Given the description of an element on the screen output the (x, y) to click on. 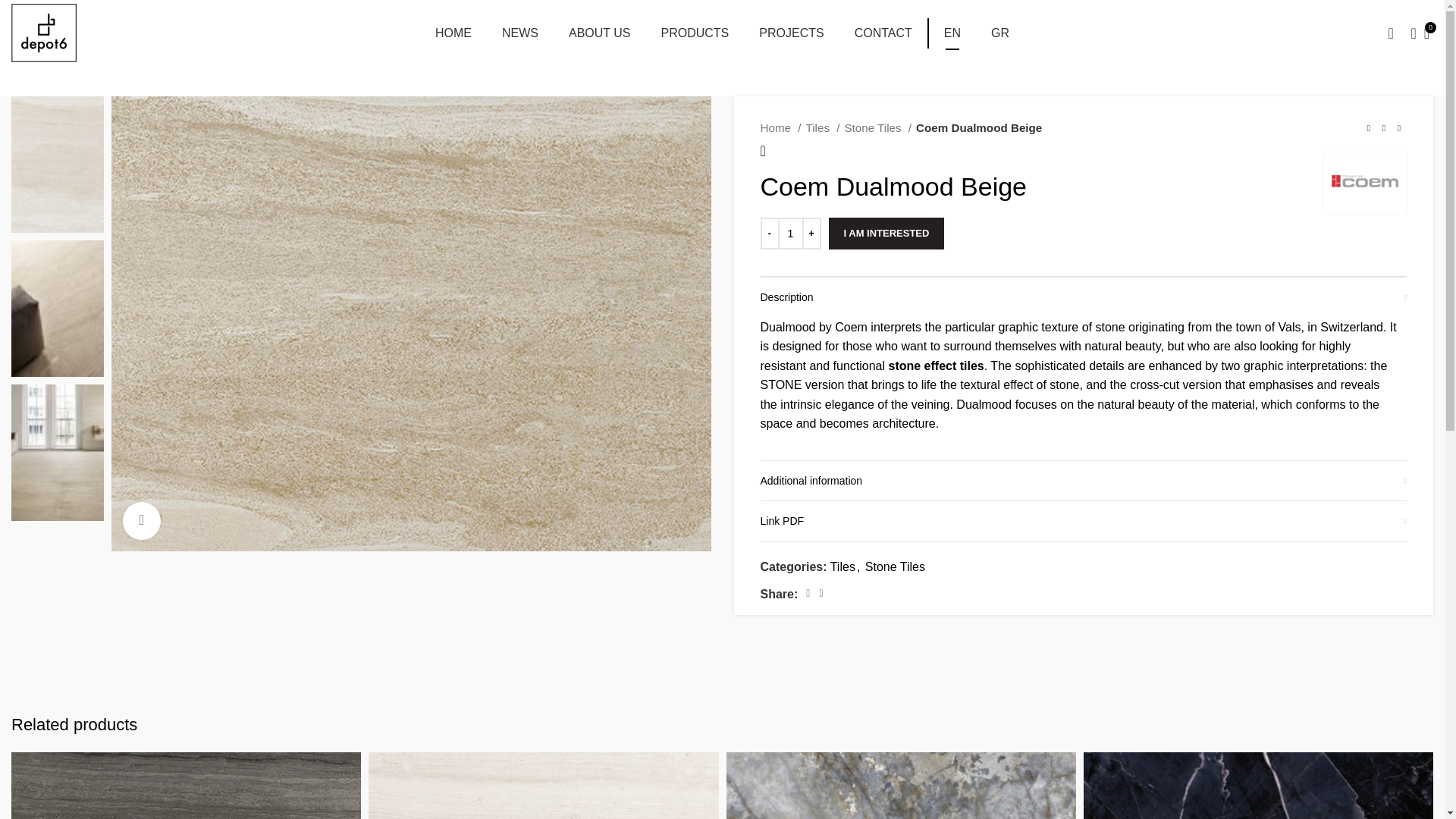
Coem (1364, 183)
HOME (453, 33)
NEWS (520, 33)
ABOUT US (722, 33)
Tiles (599, 33)
PROJECTS (822, 127)
Stone Tiles (791, 33)
Home (877, 127)
I AM INTERESTED (780, 127)
PRODUCTS (885, 233)
CONTACT (695, 33)
Log in (883, 33)
